Given the description of an element on the screen output the (x, y) to click on. 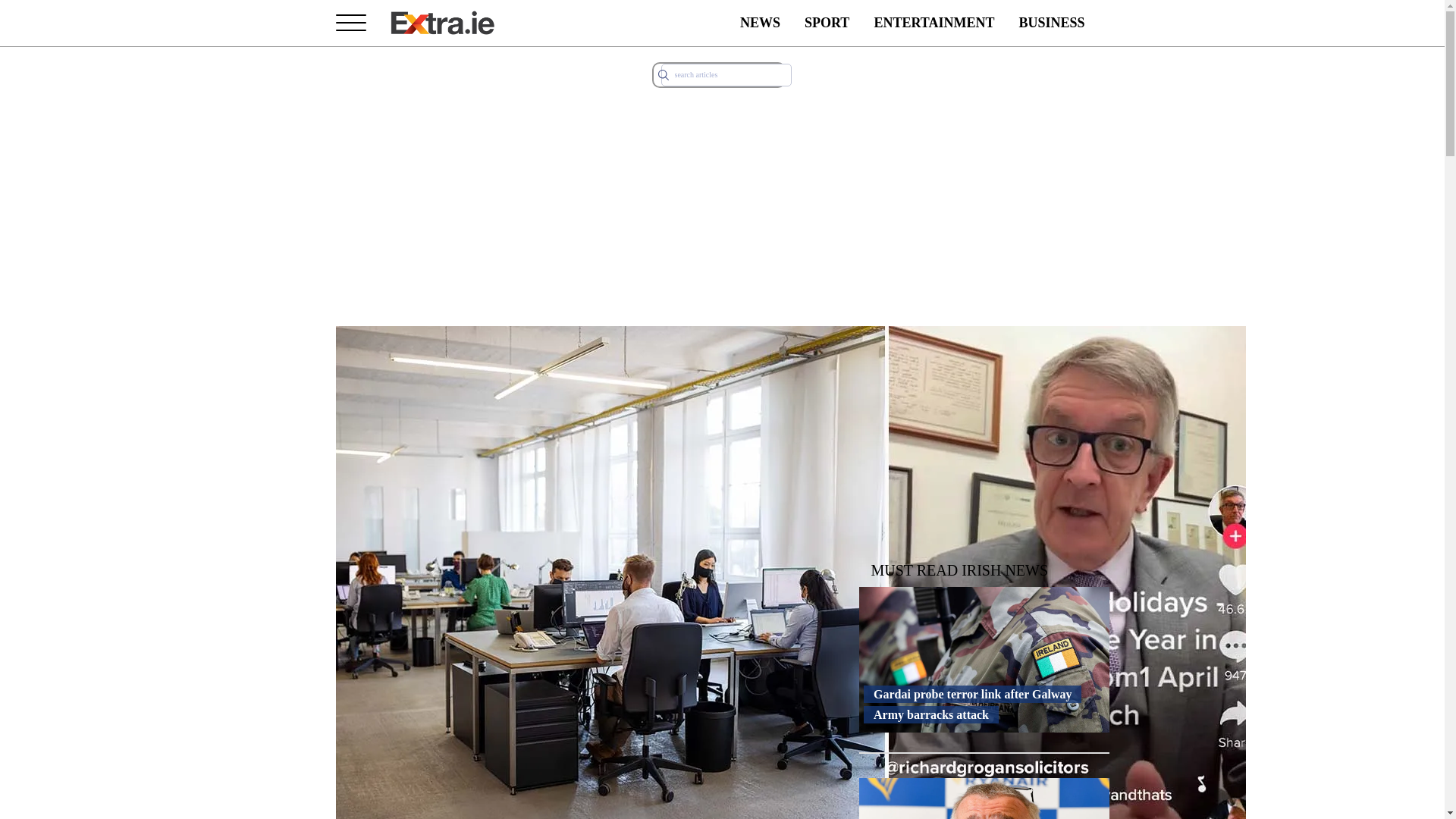
BUSINESS (1050, 23)
Submit the search query (662, 73)
NEWS (759, 23)
Gardai probe terror link after Galway Army barracks attack (983, 703)
SPORT (826, 23)
ENTERTAINMENT (933, 23)
